Given the description of an element on the screen output the (x, y) to click on. 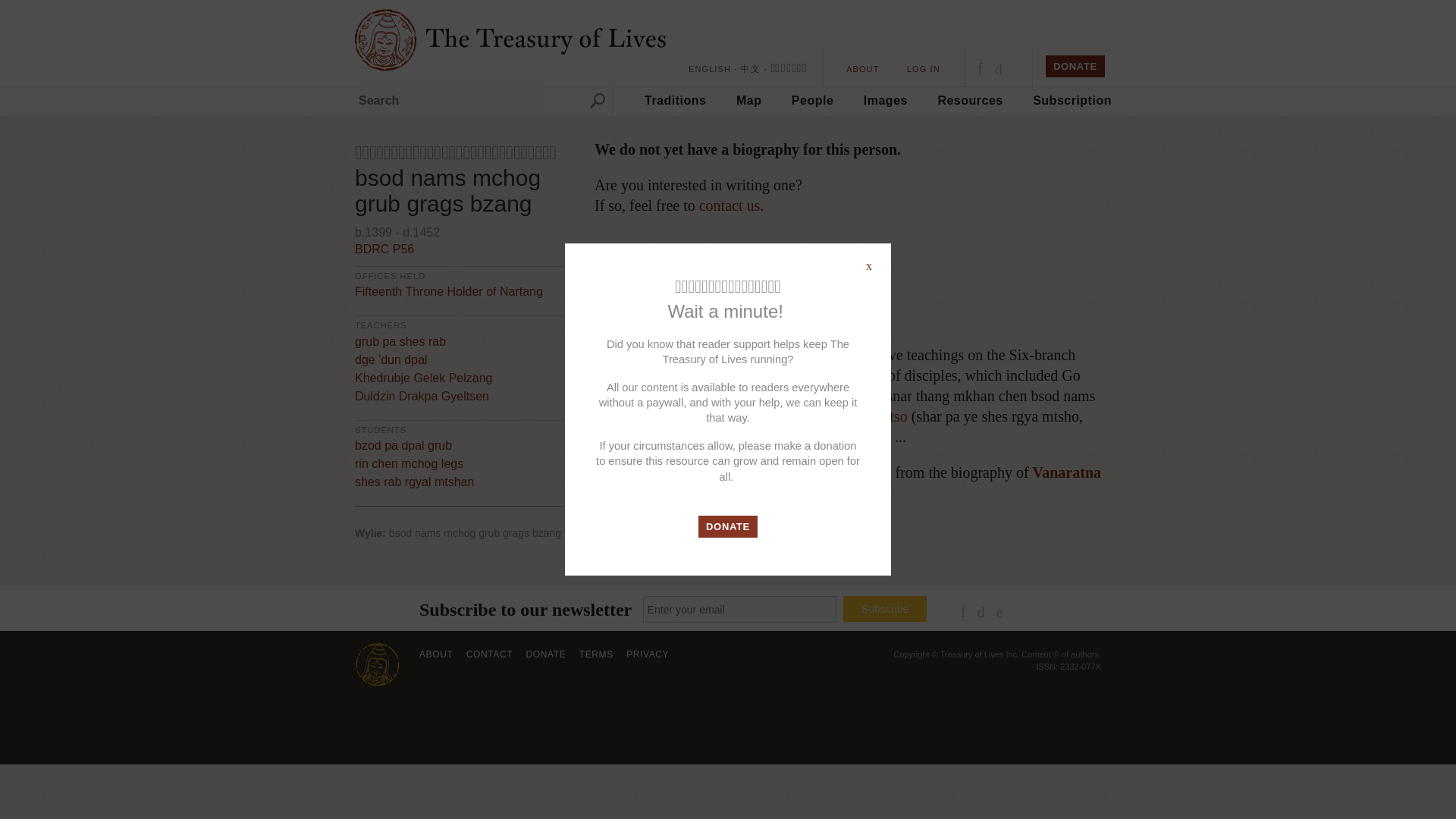
People (812, 100)
The Treasury of Lives (525, 40)
Subscribe (884, 608)
contact us (729, 205)
ENGLISH (709, 68)
Subscription (1072, 100)
BDRC P56 (384, 248)
home (525, 40)
Sharpa Yeshe Gyatso (842, 416)
Vanaratna (1066, 472)
